Given the description of an element on the screen output the (x, y) to click on. 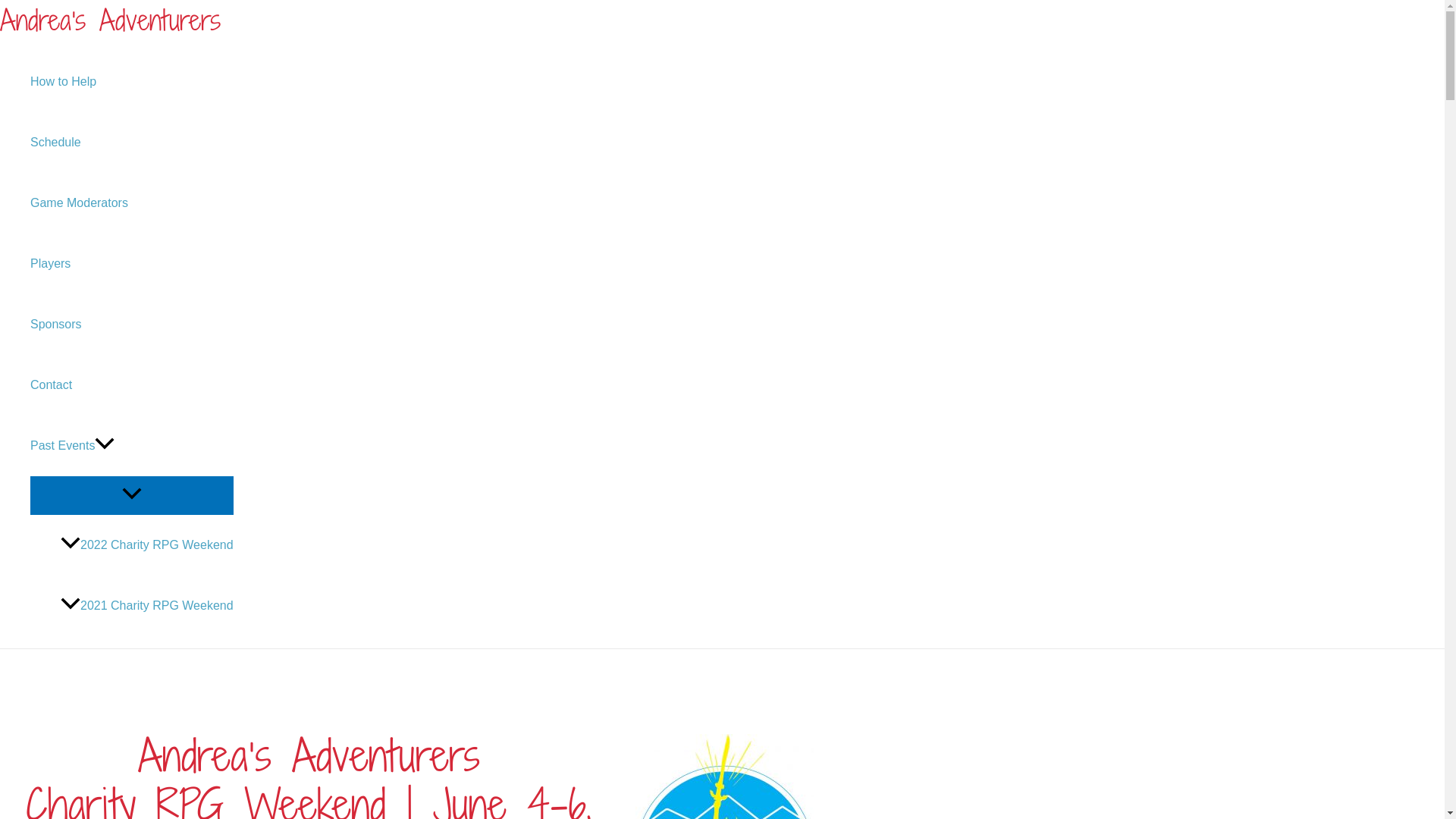
Schedule Element type: text (131, 142)
How to Help Element type: text (131, 81)
2022 Charity RPG Weekend Element type: text (146, 544)
Contact Element type: text (131, 384)
Game Moderators Element type: text (131, 202)
Past Events Element type: text (131, 445)
Andrea's Adventurers Element type: text (110, 19)
Players Element type: text (131, 263)
Sponsors Element type: text (131, 324)
2021 Charity RPG Weekend Element type: text (146, 605)
Menu Toggle Element type: text (131, 494)
